Given the description of an element on the screen output the (x, y) to click on. 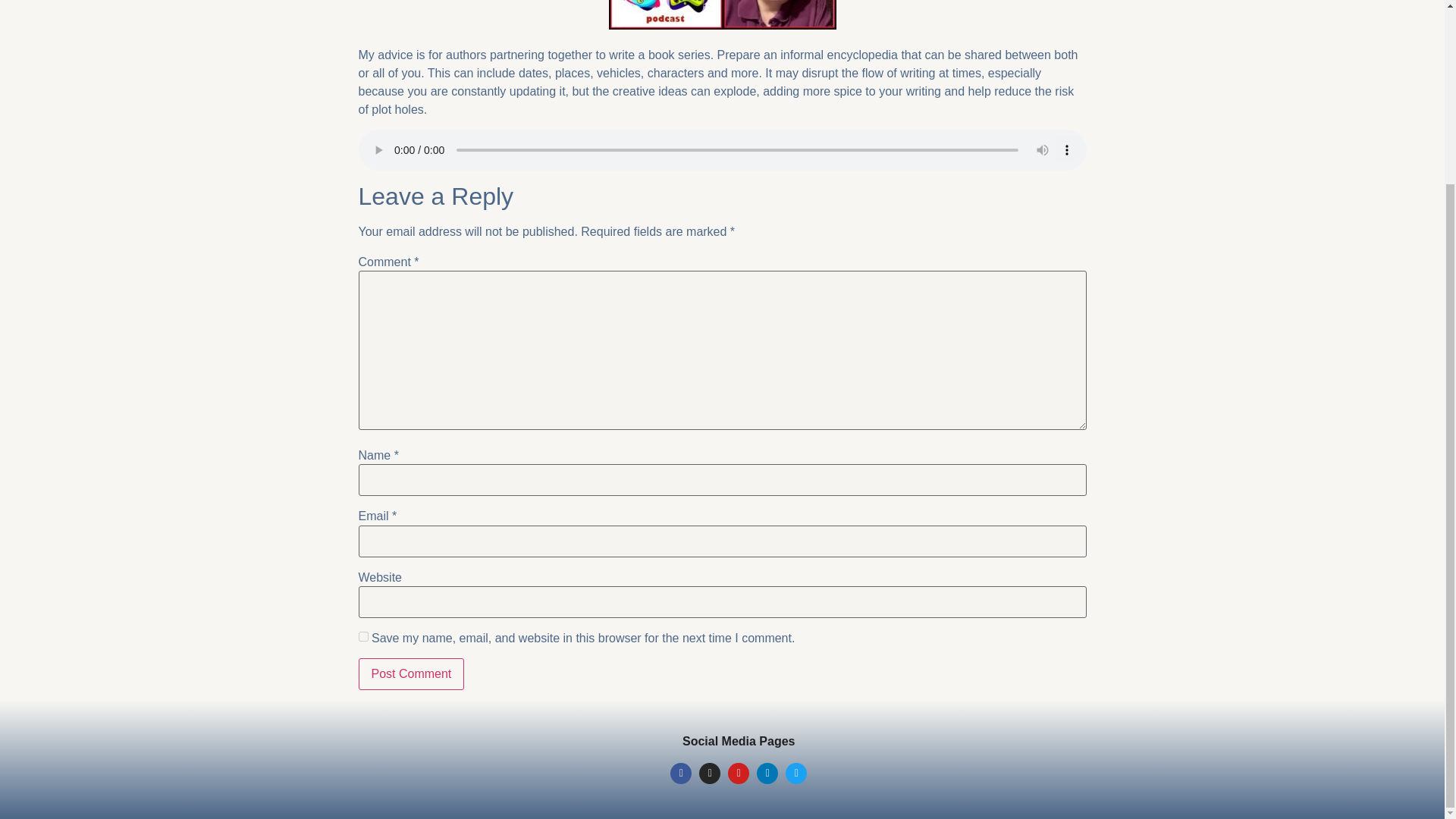
Post Comment (411, 674)
yes (363, 636)
Post Comment (411, 674)
